Given the description of an element on the screen output the (x, y) to click on. 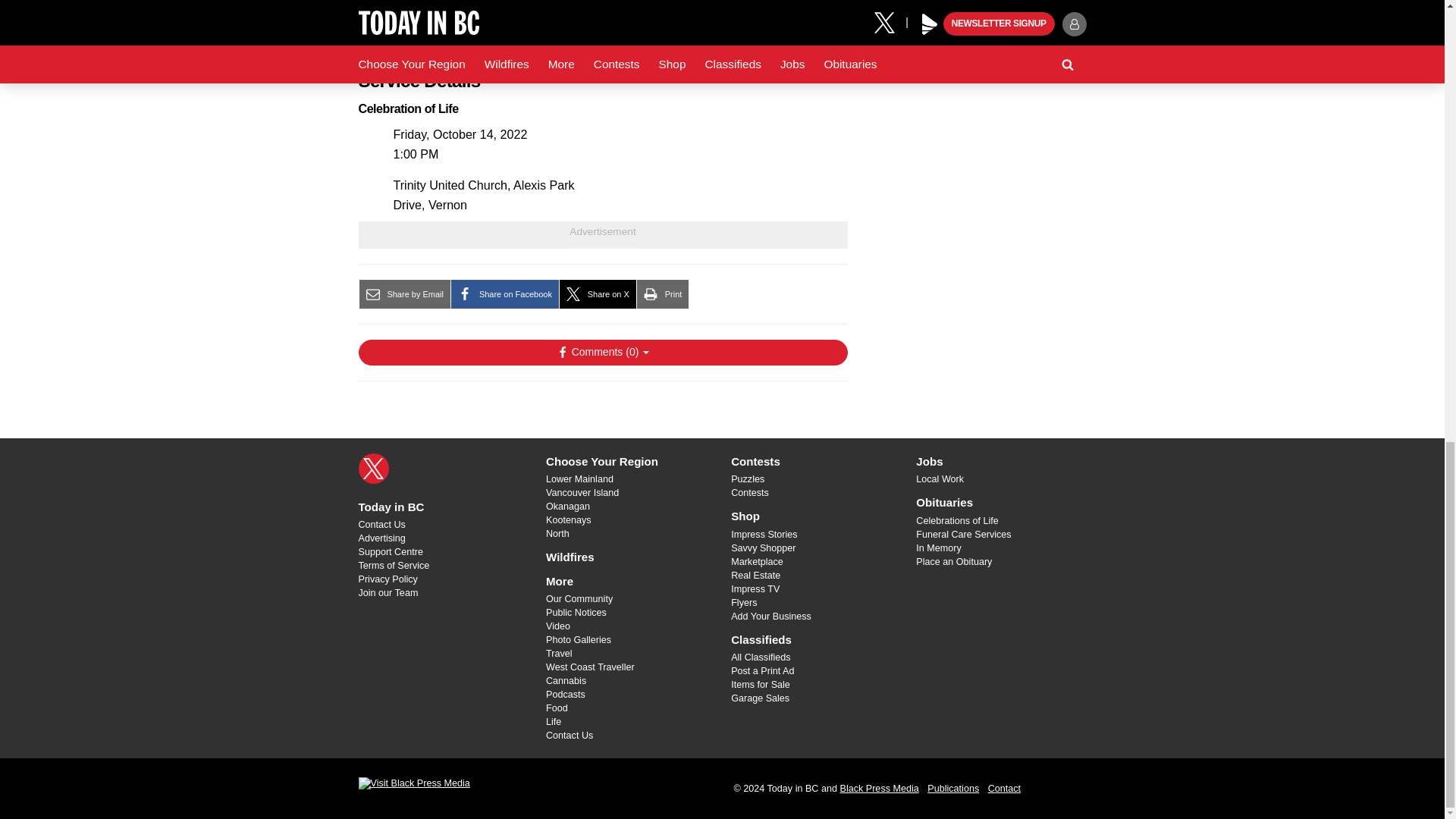
X (373, 468)
Show Comments (602, 352)
